Given the description of an element on the screen output the (x, y) to click on. 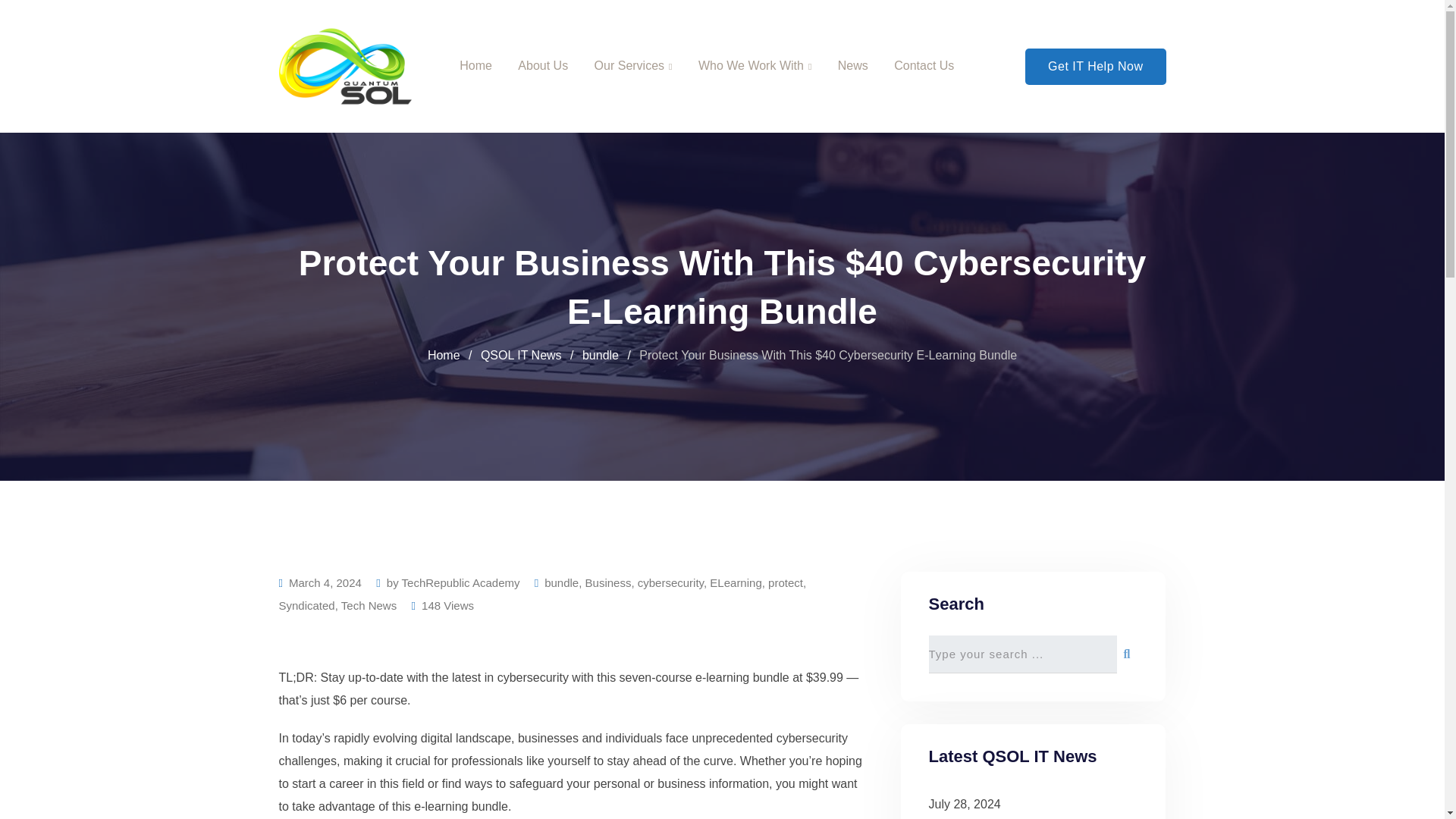
bundle (561, 582)
Our Services (633, 65)
bundle (600, 354)
Home (444, 354)
QSOL IT News (521, 354)
Go to QSOL IT. (444, 354)
Go to QSOL IT News. (521, 354)
TechRepublic Academy (460, 582)
Who We Work With (754, 65)
Posts by TechRepublic Academy (460, 582)
